Given the description of an element on the screen output the (x, y) to click on. 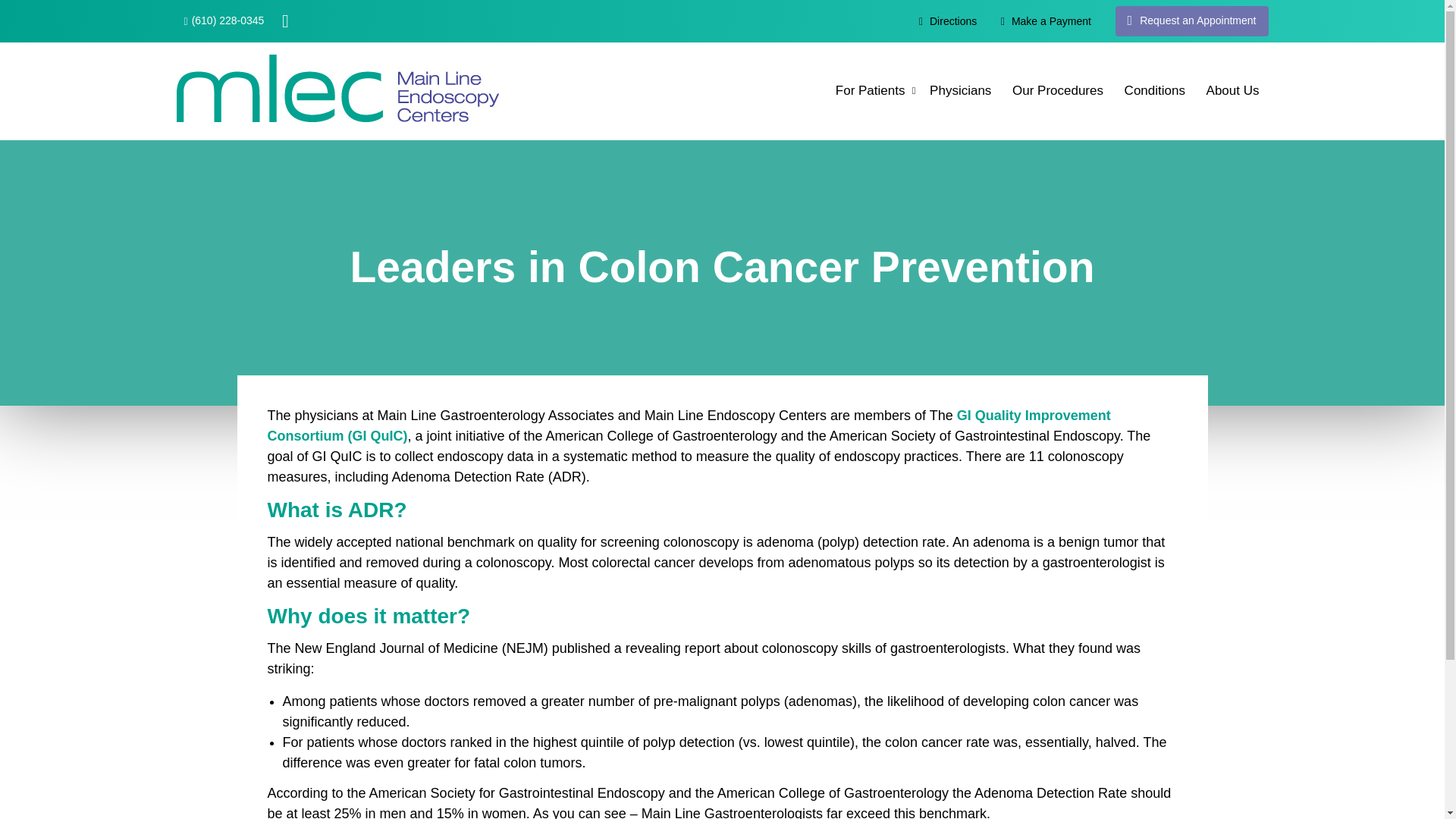
Request an Appointment (1191, 20)
Make a Payment (1045, 20)
For Patients (870, 90)
Directions (947, 20)
Main Line Endoscopy Centers (336, 87)
Our Procedures (1057, 90)
